Given the description of an element on the screen output the (x, y) to click on. 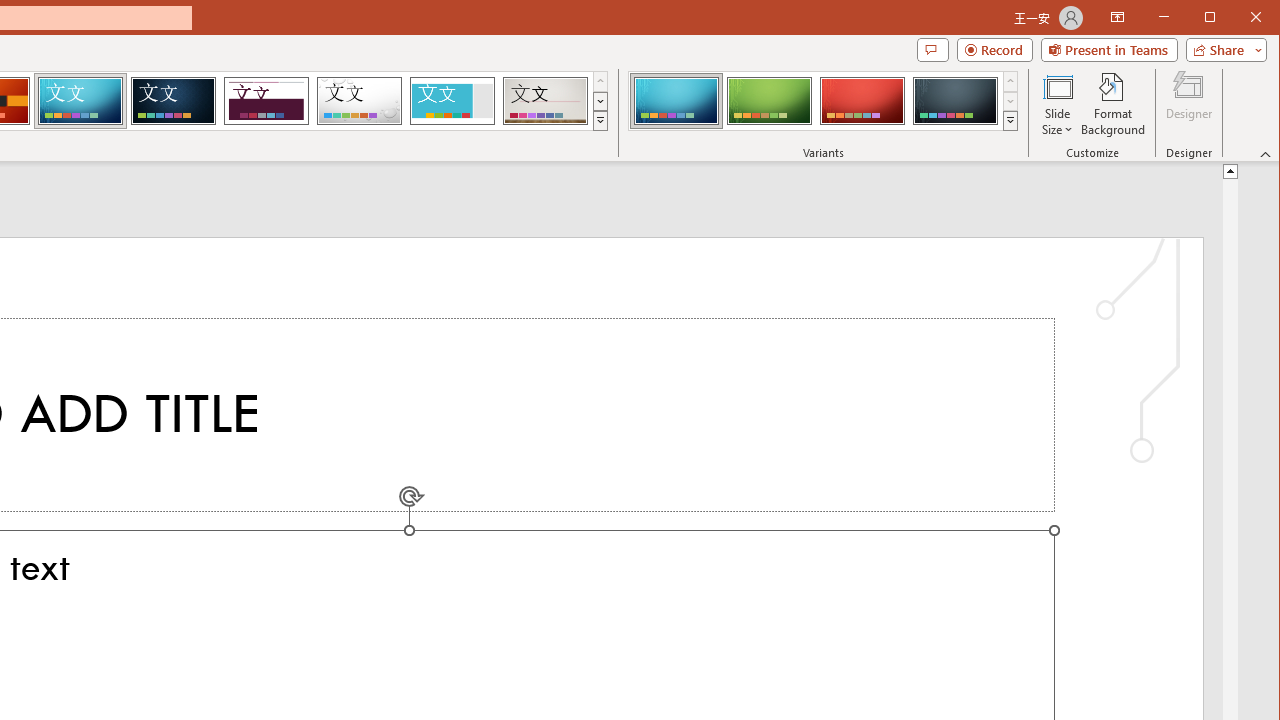
Circuit Variant 4 (955, 100)
Circuit Variant 3 (862, 100)
